Given the description of an element on the screen output the (x, y) to click on. 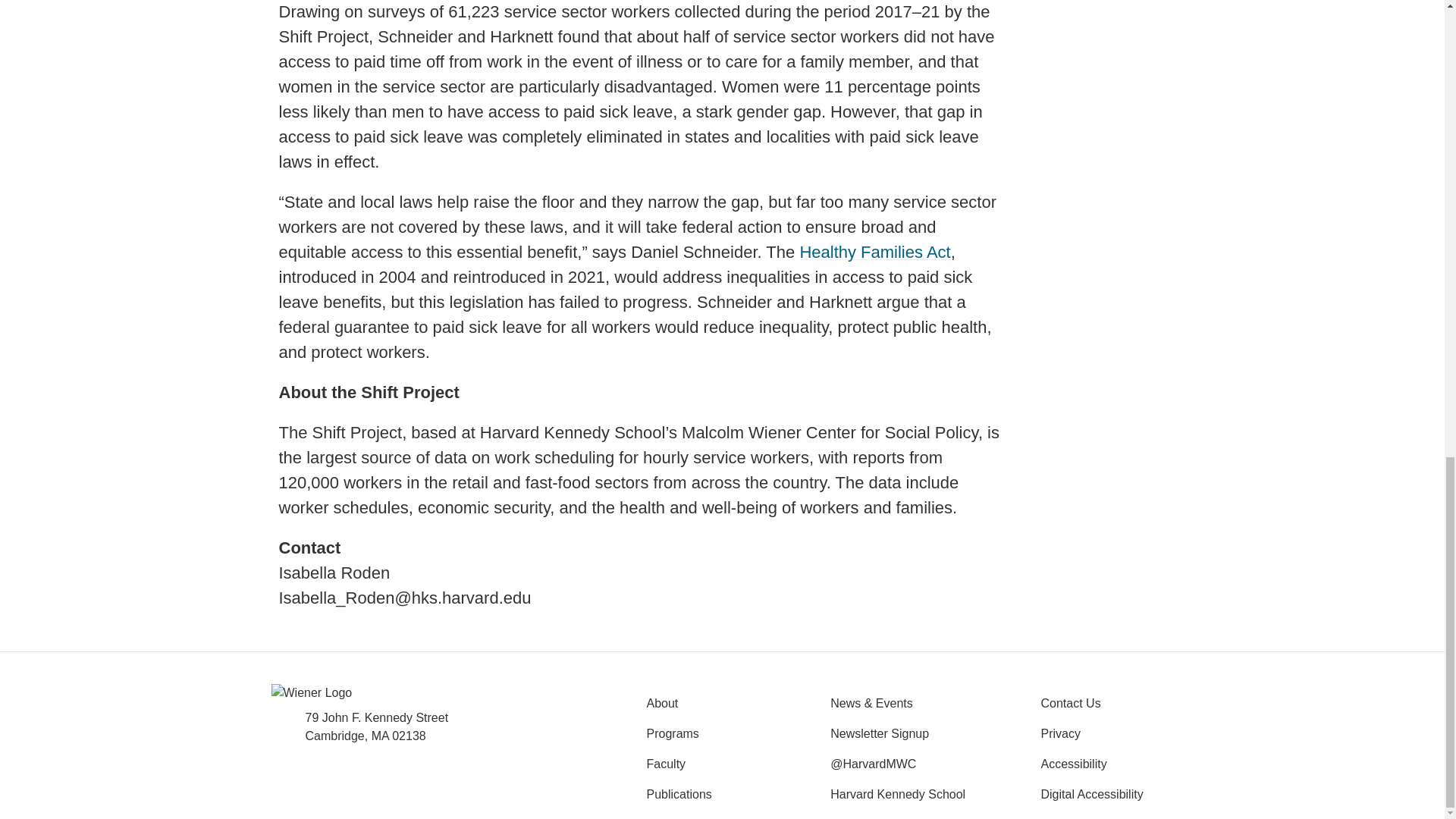
Wiener Logo (311, 692)
